Given the description of an element on the screen output the (x, y) to click on. 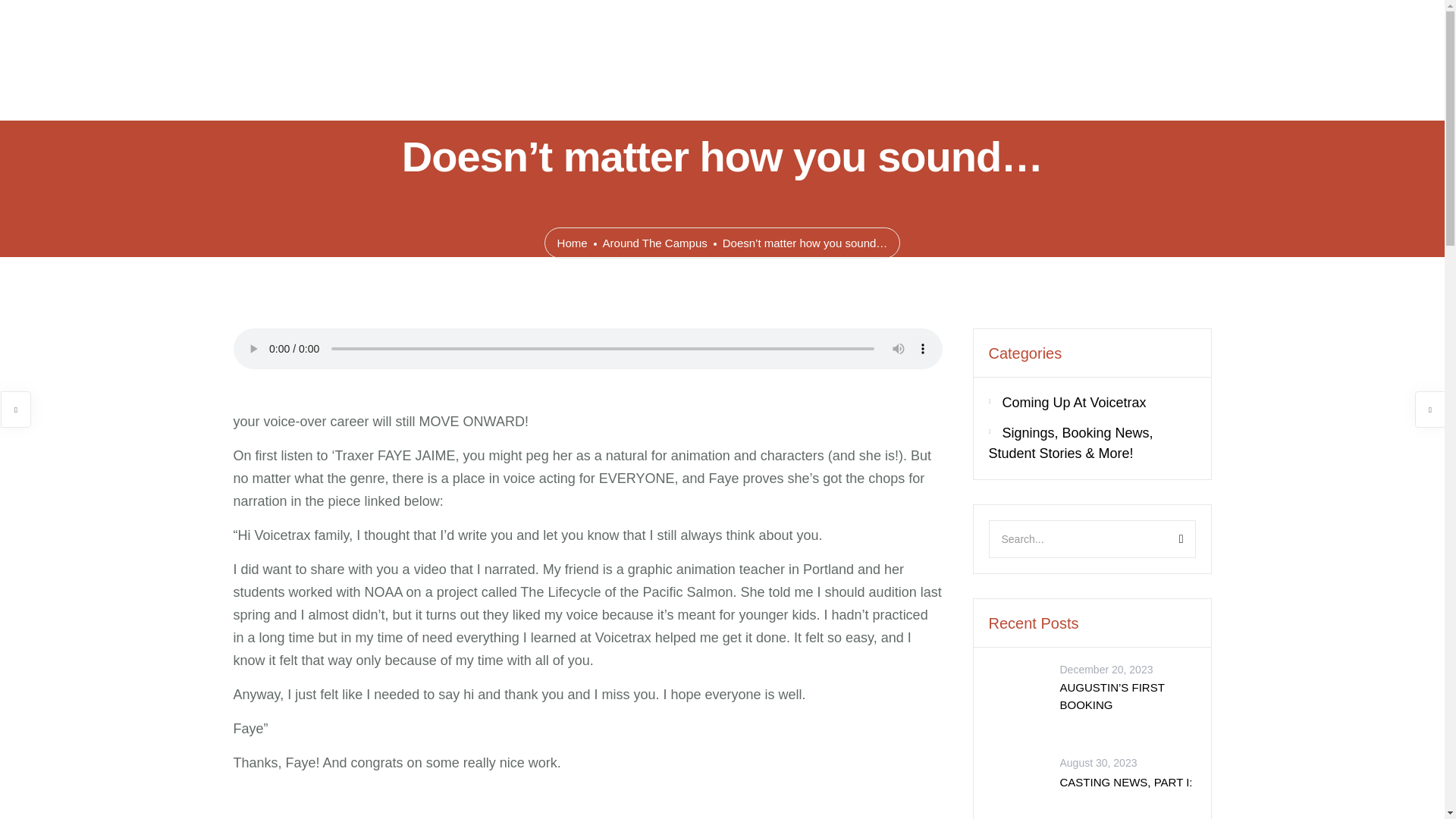
CASTING NEWS, PART I: (1018, 793)
CASTING NEWS, PART I: (1125, 784)
Search (1163, 538)
